Given the description of an element on the screen output the (x, y) to click on. 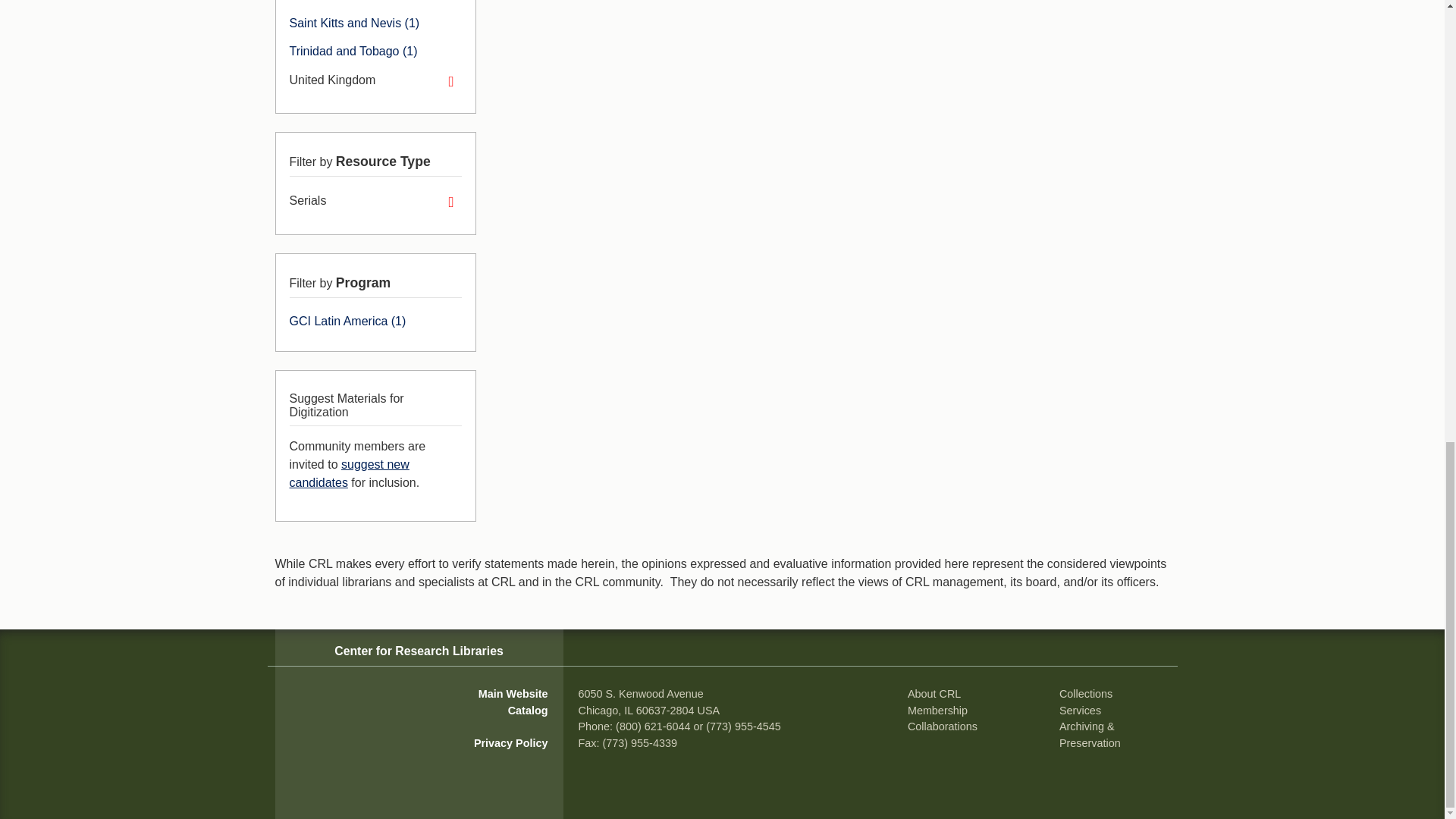
Main Website (513, 693)
Center for Research Libraries (418, 650)
Catalog (528, 710)
About CRL (933, 693)
Privacy Policy (511, 743)
suggest new candidates (349, 472)
Membership (937, 710)
